Given the description of an element on the screen output the (x, y) to click on. 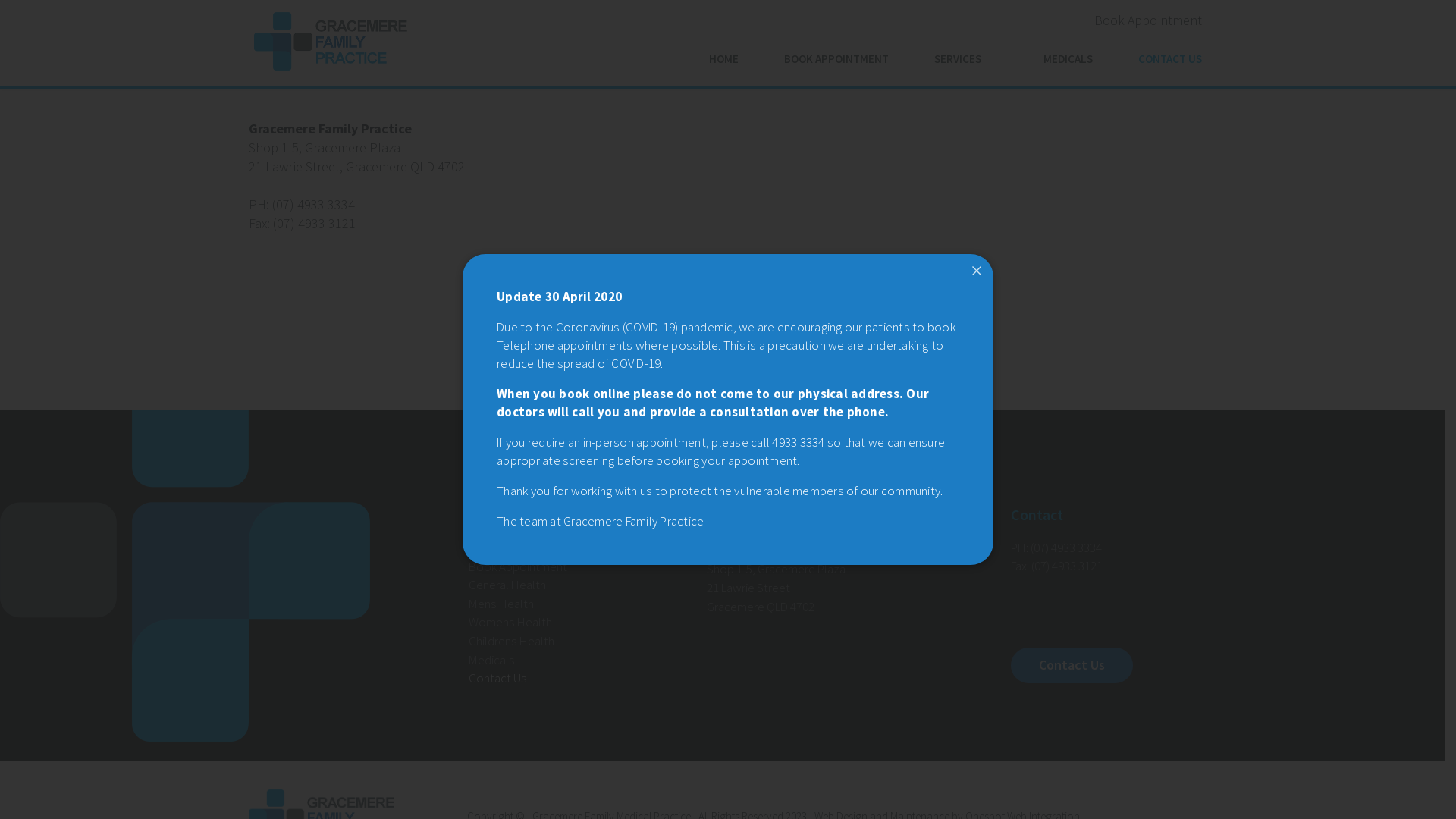
Contact Us Element type: text (1071, 665)
Book Appointment Element type: text (517, 566)
Home Element type: text (484, 547)
SERVICES Element type: text (965, 60)
Mens Health Element type: text (500, 603)
BOOK APPOINTMENT Element type: text (836, 60)
MEDICALS Element type: text (1067, 60)
General Health Element type: text (507, 584)
Contact Us Element type: text (497, 678)
Book Appointment Element type: text (1147, 20)
Fax: (07) 4933 3121 Element type: text (1055, 565)
PH: (07) 4933 3334 Element type: text (1055, 547)
PH: (07) 4933 3334 Element type: text (301, 205)
Medicals Element type: text (491, 659)
HOME Element type: text (723, 60)
Womens Health Element type: text (510, 622)
Childrens Health Element type: text (511, 640)
Fax: (07) 4933 3121 Element type: text (301, 224)
Close Element type: hover (976, 270)
CONTACT US Element type: text (1169, 60)
